Given the description of an element on the screen output the (x, y) to click on. 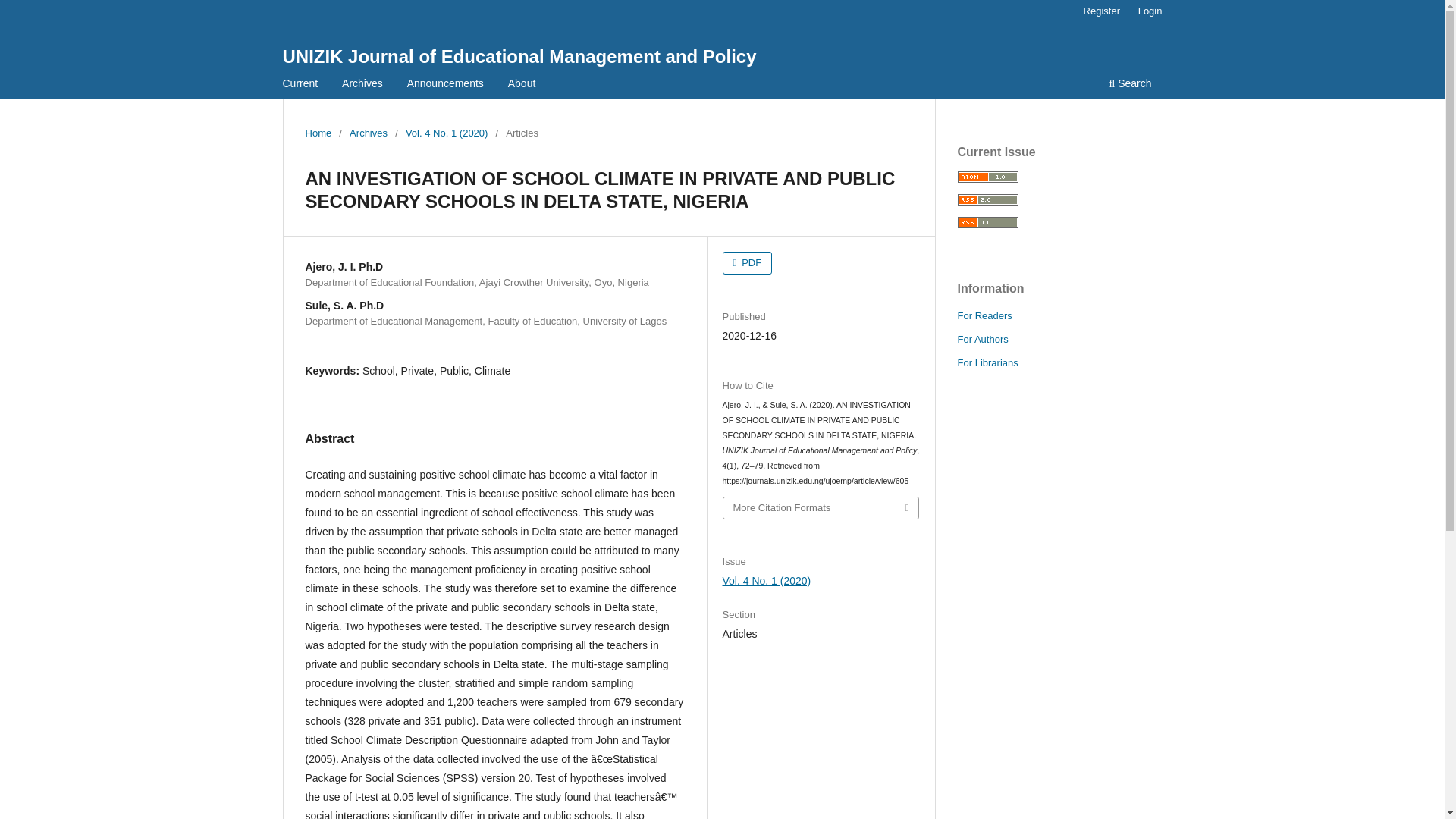
Register (1100, 11)
Search (1129, 85)
Archives (368, 133)
PDF (747, 262)
Home (317, 133)
UNIZIK Journal of Educational Management and Policy (518, 56)
Announcements (445, 85)
Archives (362, 85)
About (521, 85)
Current (300, 85)
